Given the description of an element on the screen output the (x, y) to click on. 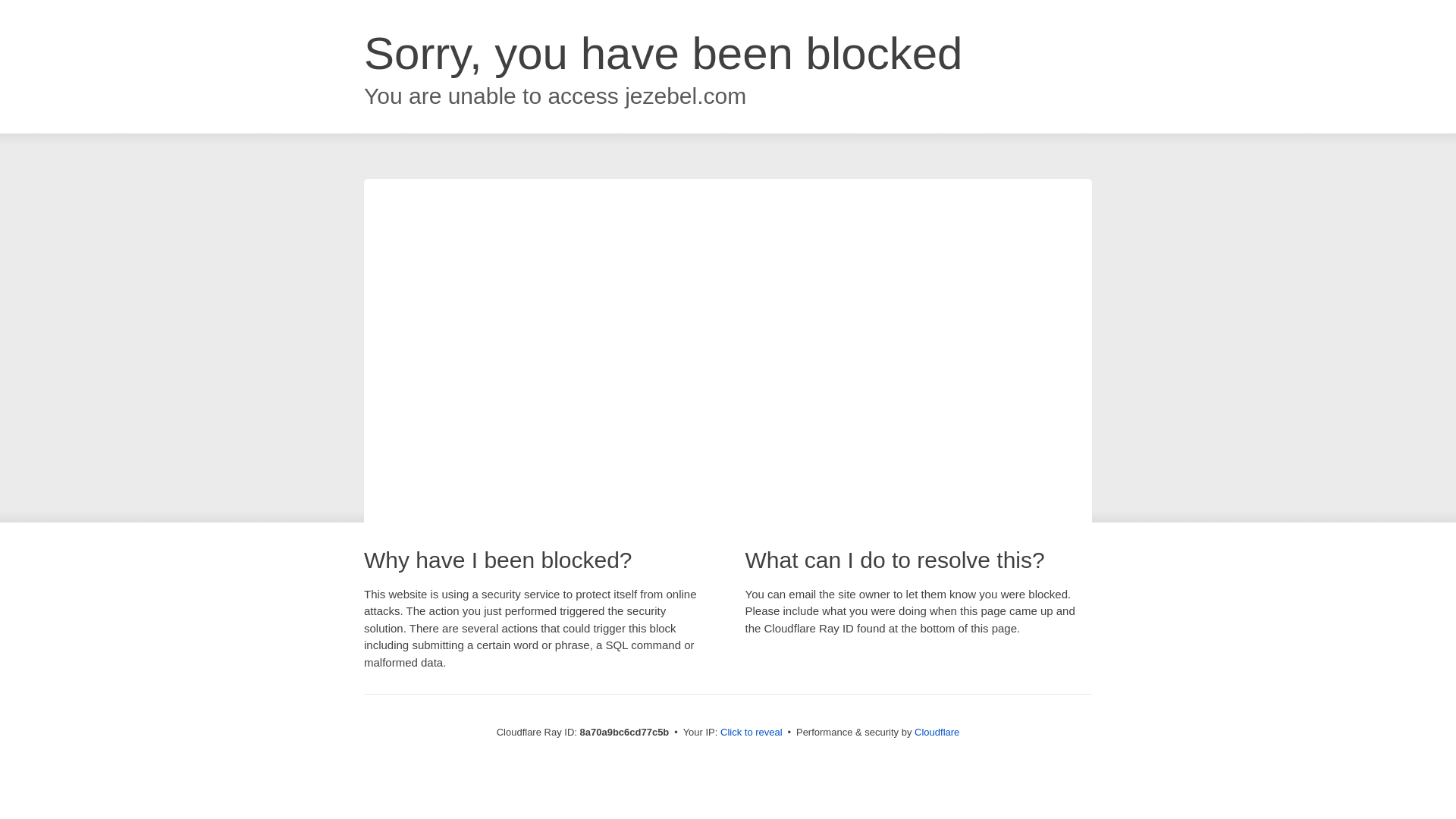
Click to reveal (751, 732)
Cloudflare (936, 731)
